Given the description of an element on the screen output the (x, y) to click on. 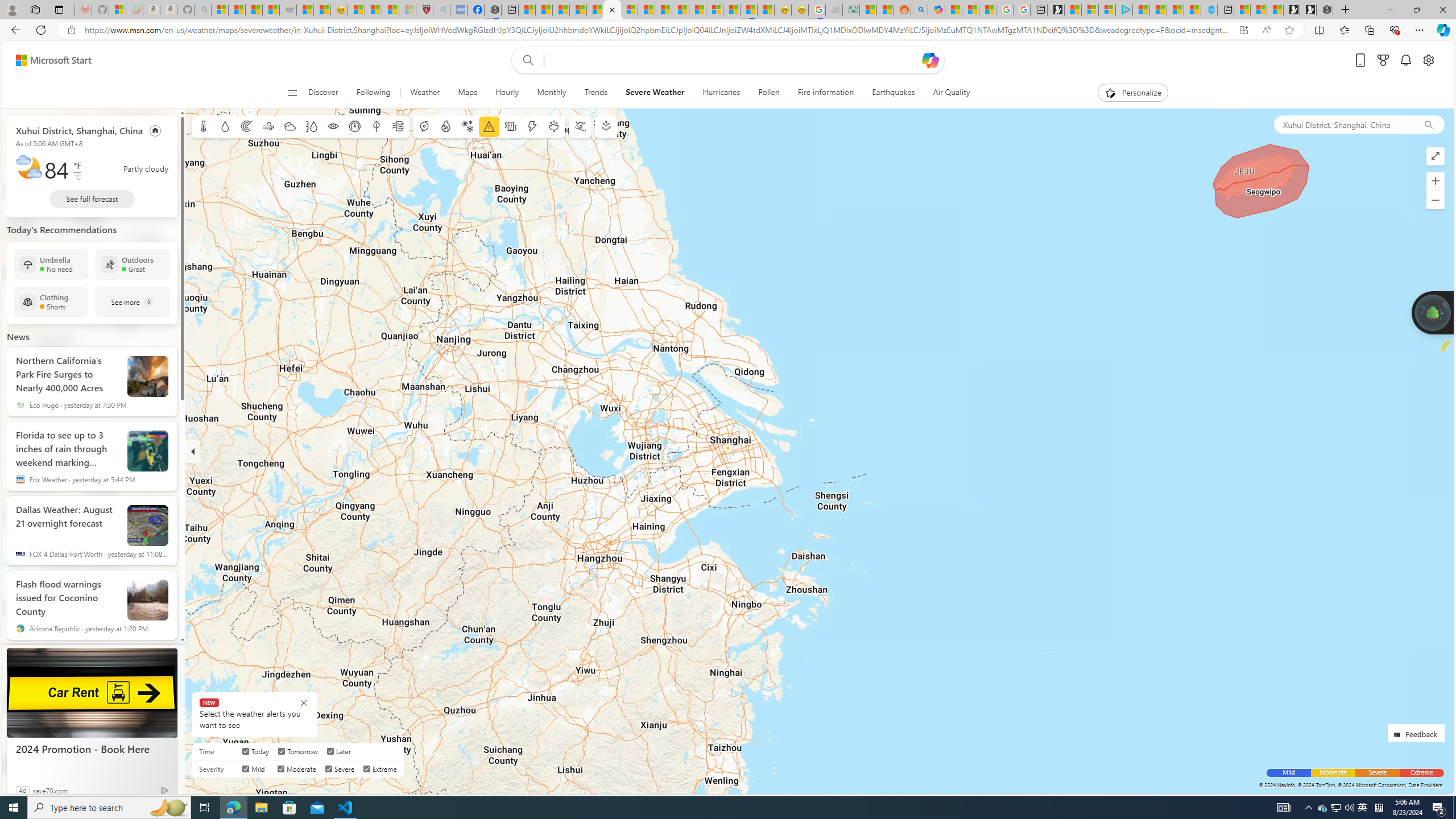
Wind (267, 126)
Flash flood warnings issued for Coconino County (67, 595)
Clothing Shorts (50, 301)
See full forecast (92, 199)
Air Quality (951, 92)
